Given the description of an element on the screen output the (x, y) to click on. 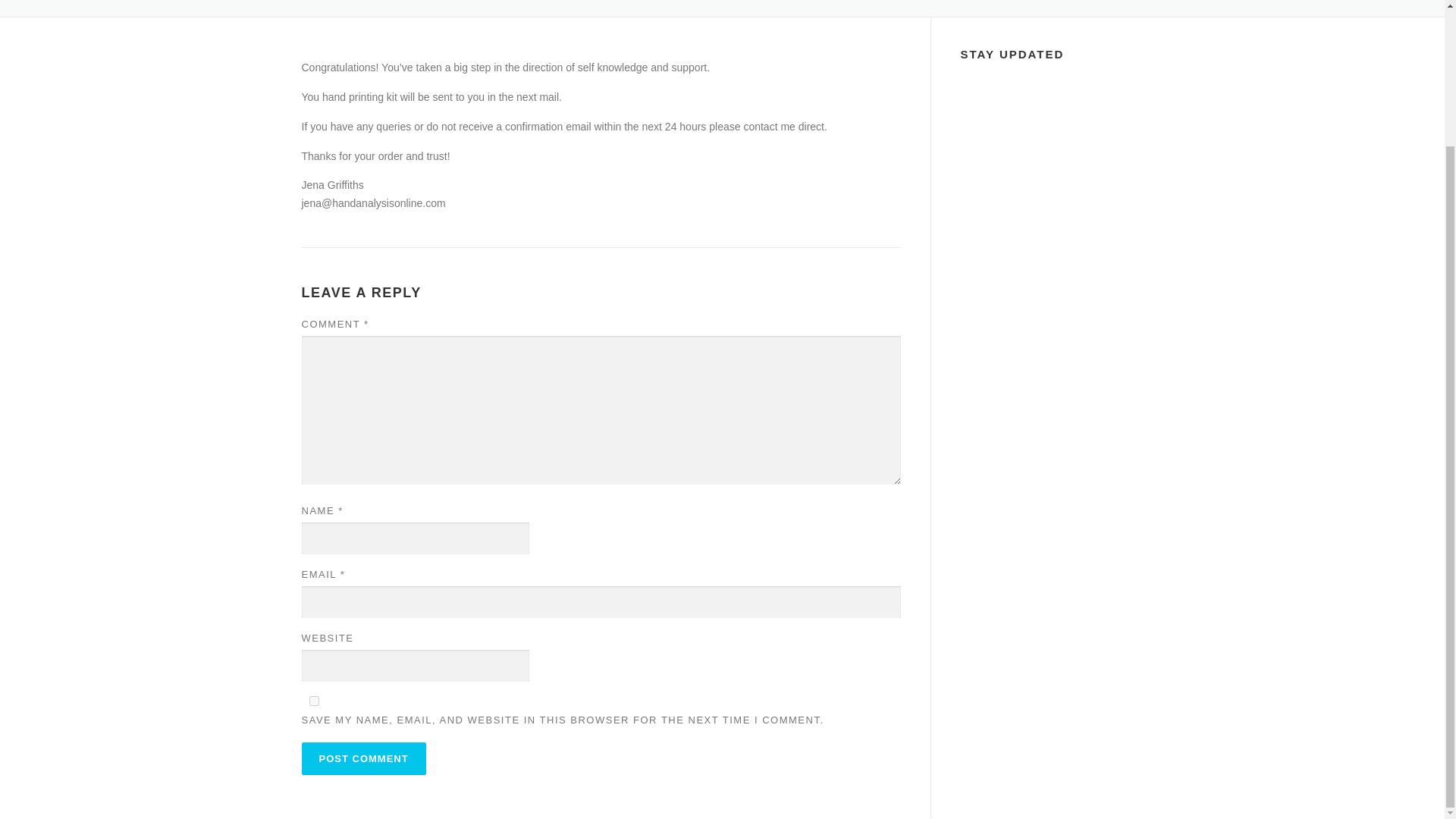
Post Comment (363, 758)
yes (313, 700)
Post Comment (363, 758)
